Given the description of an element on the screen output the (x, y) to click on. 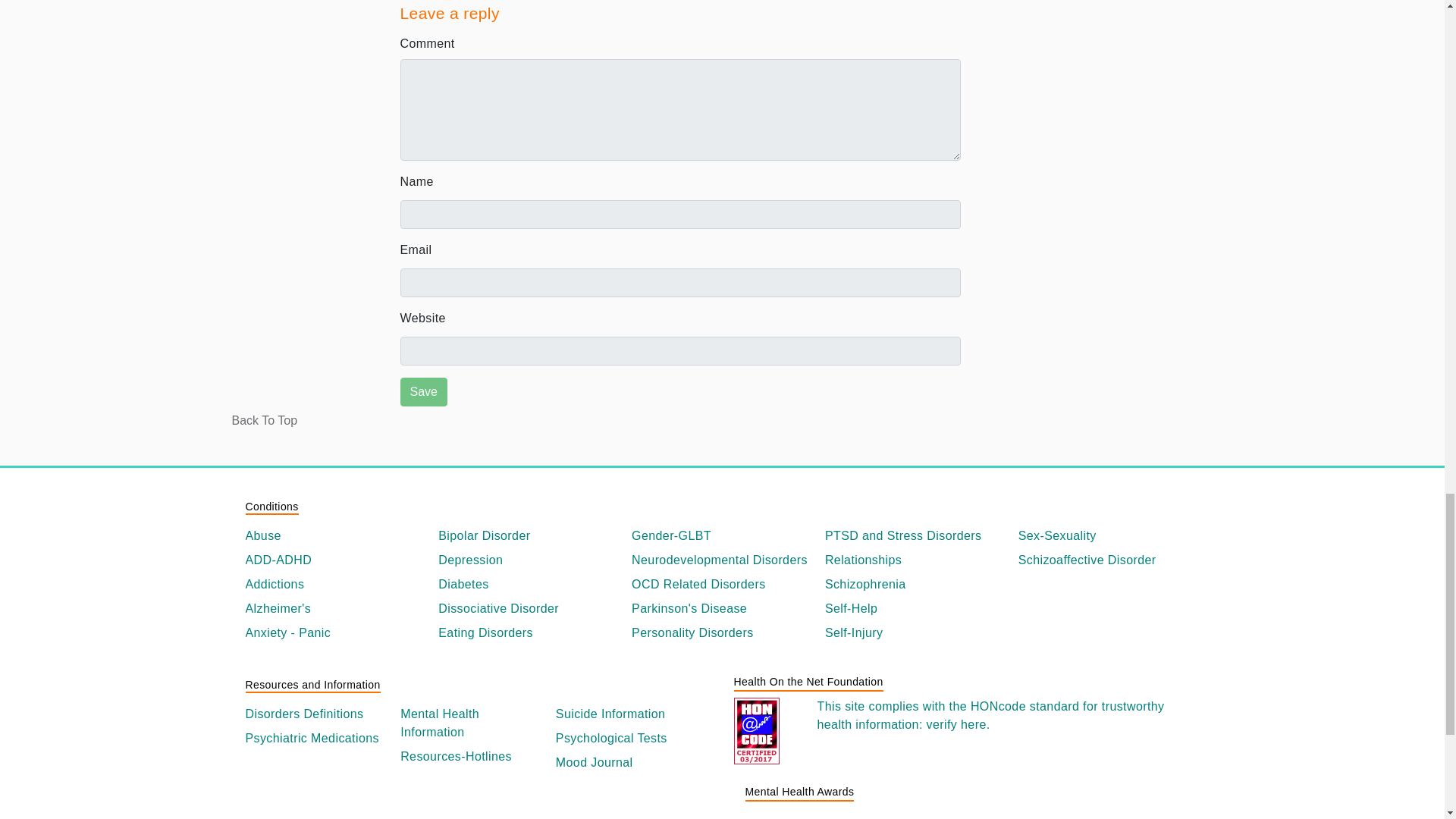
Parkinson's Disease Information Articles (721, 608)
